Given the description of an element on the screen output the (x, y) to click on. 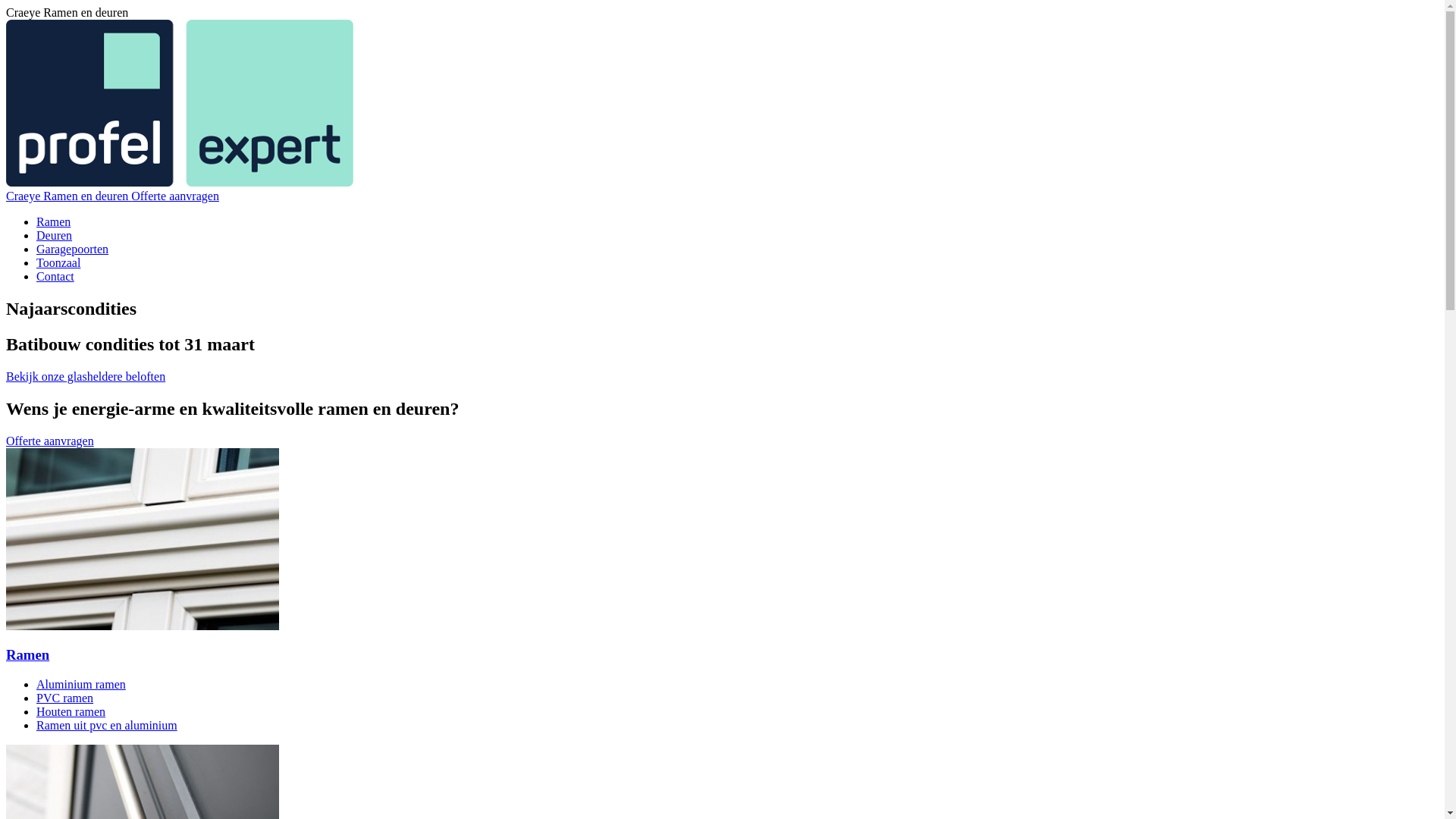
Garagepoorten Element type: text (72, 248)
Bekijk onze glasheldere beloften Element type: text (85, 376)
PVC ramen Element type: text (64, 697)
Contact Element type: text (55, 275)
Craeye Ramen en deuren Element type: text (68, 195)
Offerte aanvragen Element type: text (50, 440)
Ramen uit pvc en aluminium Element type: text (106, 724)
Aluminium ramen Element type: text (80, 683)
Ramen Element type: text (53, 221)
Toonzaal Element type: text (58, 262)
Ramen Element type: text (27, 654)
Deuren Element type: text (54, 235)
Houten ramen Element type: text (70, 711)
Offerte aanvragen Element type: text (175, 195)
Craeye Ramen en deuren Element type: hover (179, 181)
